Given the description of an element on the screen output the (x, y) to click on. 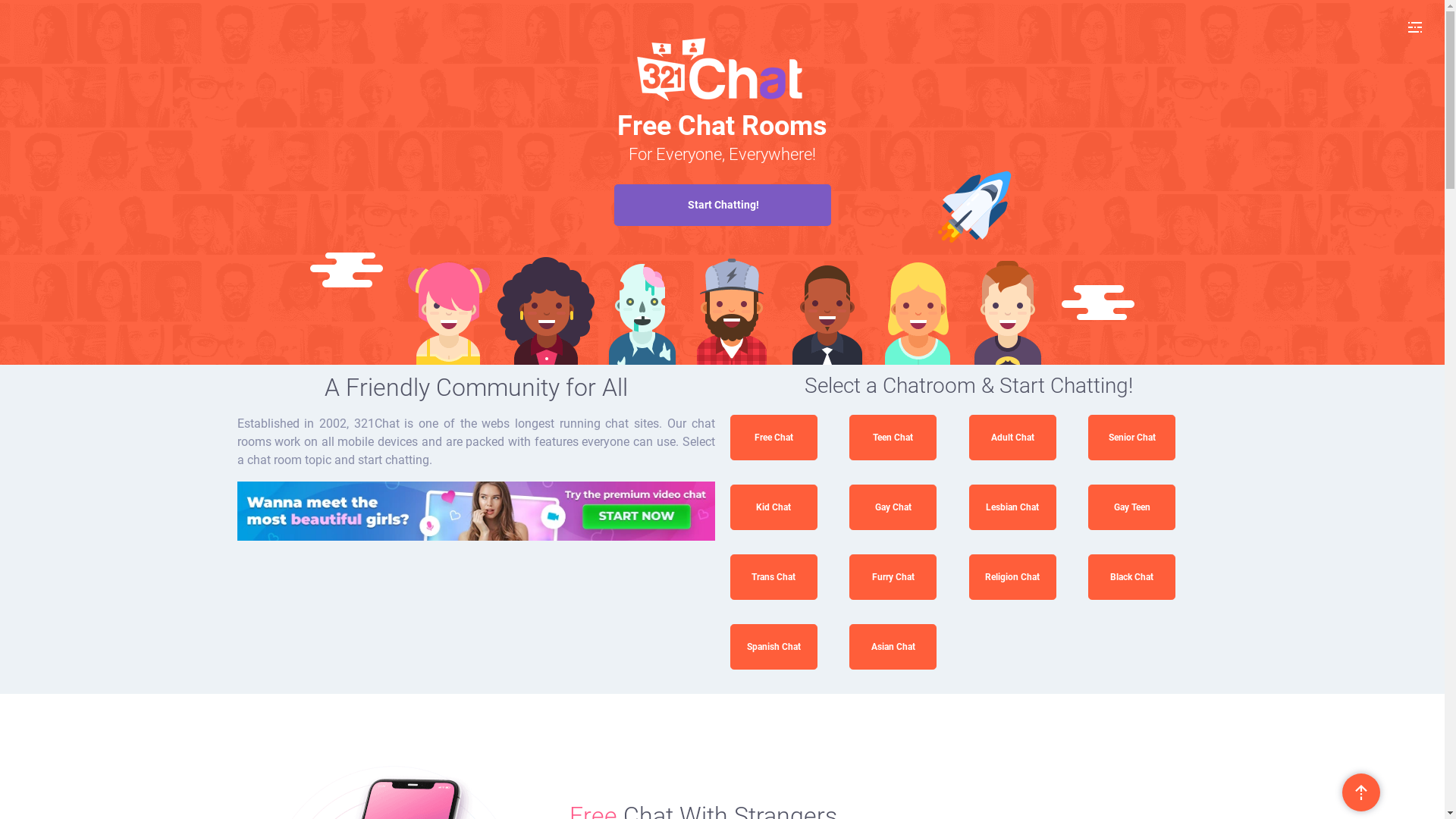
Free Chat Element type: hover (475, 510)
Lesbian Chat Element type: text (1012, 507)
Black Chat Element type: text (1131, 576)
Religion Chat Element type: text (1012, 576)
Gay Teen Element type: text (1131, 507)
Asian Chat Element type: text (892, 646)
Gay Chat Element type: text (892, 507)
Kid Chat Element type: text (772, 507)
Furry Chat Element type: text (892, 576)
Start Chatting! Element type: text (722, 204)
Senior Chat Element type: text (1131, 437)
Free Chat Element type: text (772, 437)
Trans Chat Element type: text (772, 576)
Adult Chat Element type: text (1012, 437)
Spanish Chat Element type: text (772, 646)
Teen Chat Element type: text (892, 437)
